Given the description of an element on the screen output the (x, y) to click on. 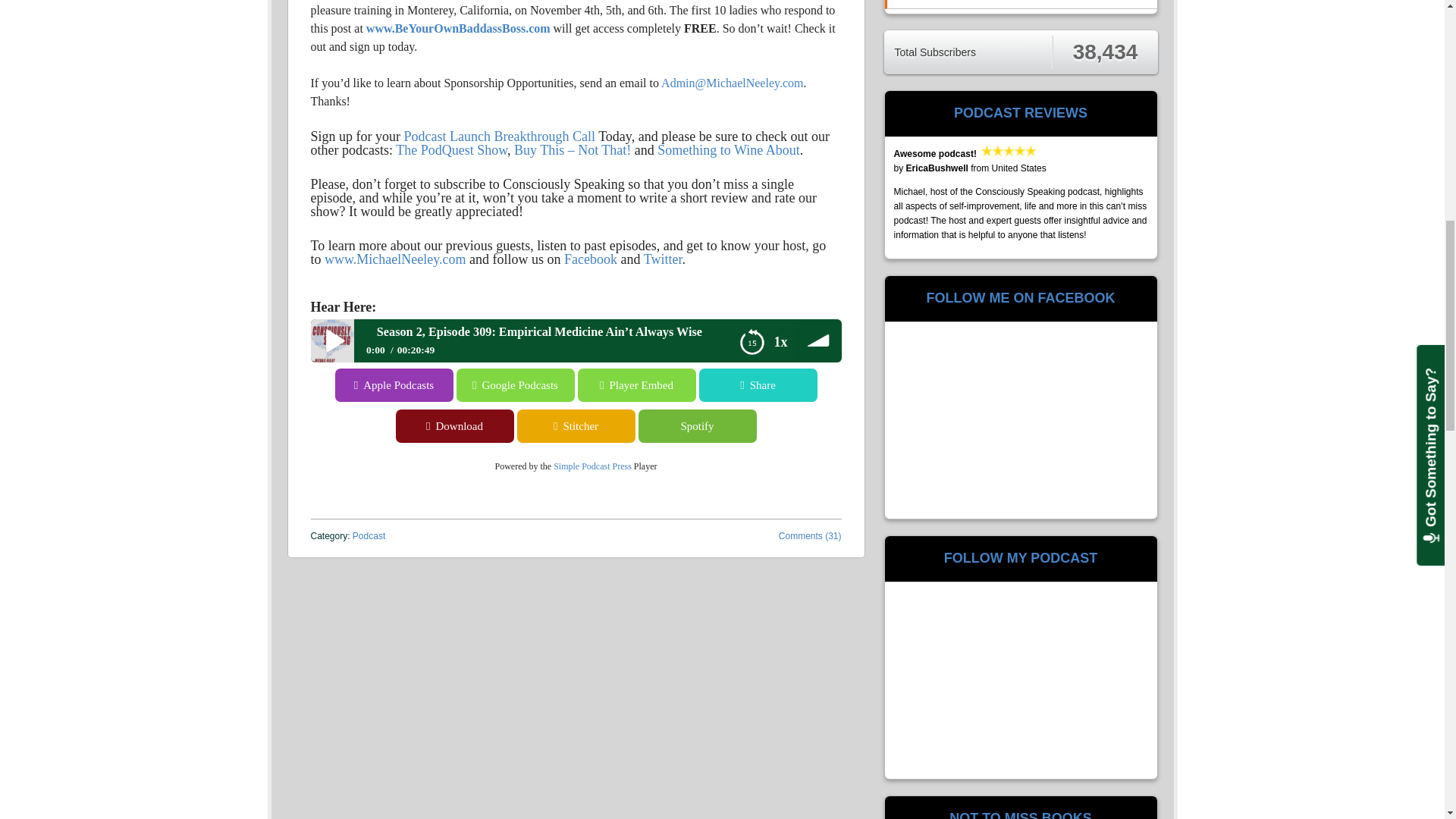
Something to Wine About (728, 150)
Apple Podcasts (392, 385)
The PodQuest Show (451, 150)
Share (757, 385)
Twitter (662, 258)
Facebook (590, 258)
Google Podcasts (58, 385)
Podcast Launch Breakthrough Call (498, 136)
www.MichaelNeeley.com (394, 258)
www.BeYourOwnBaddassBoss.com (458, 28)
